Given the description of an element on the screen output the (x, y) to click on. 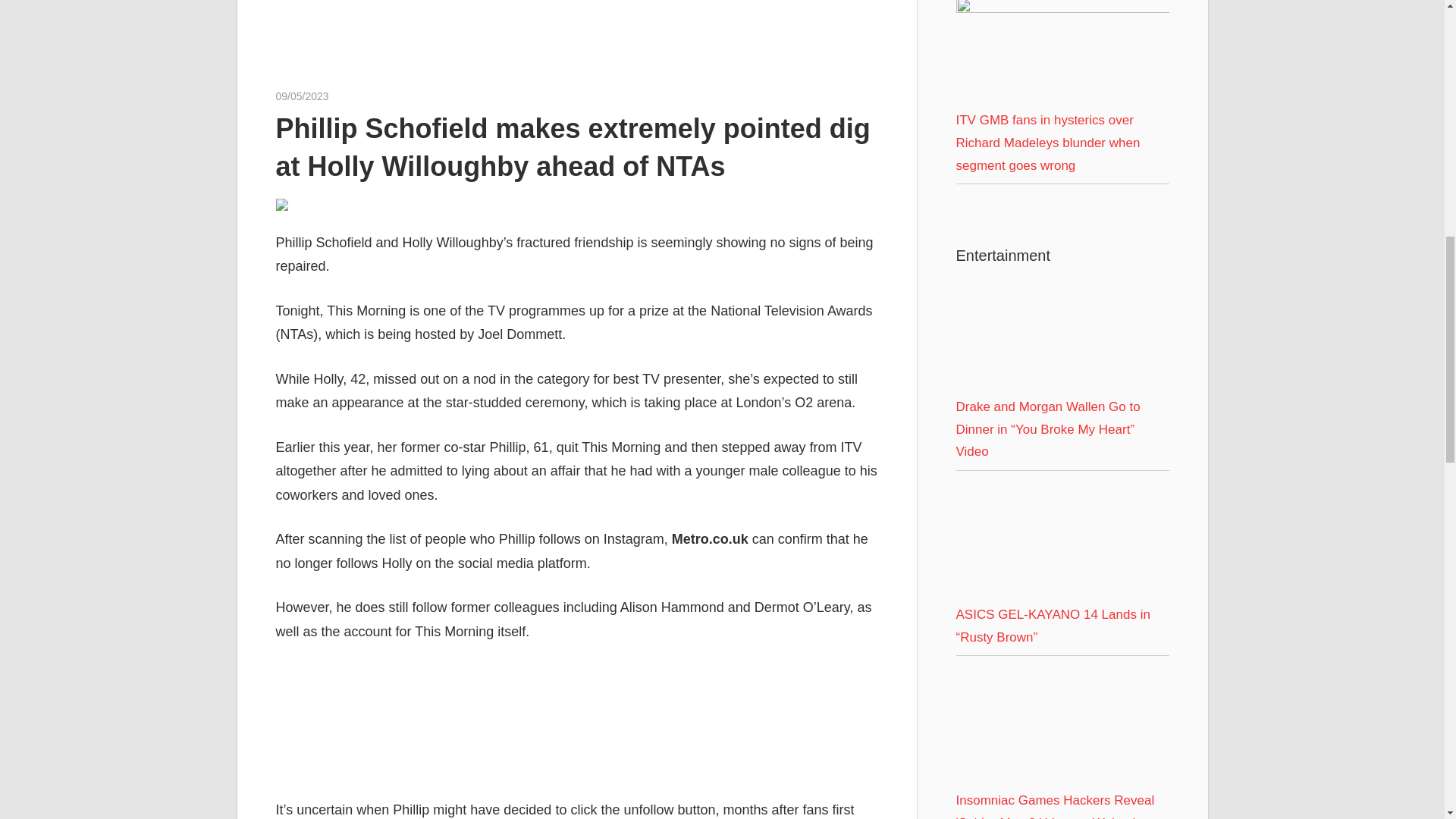
17:59 (302, 96)
